Given the description of an element on the screen output the (x, y) to click on. 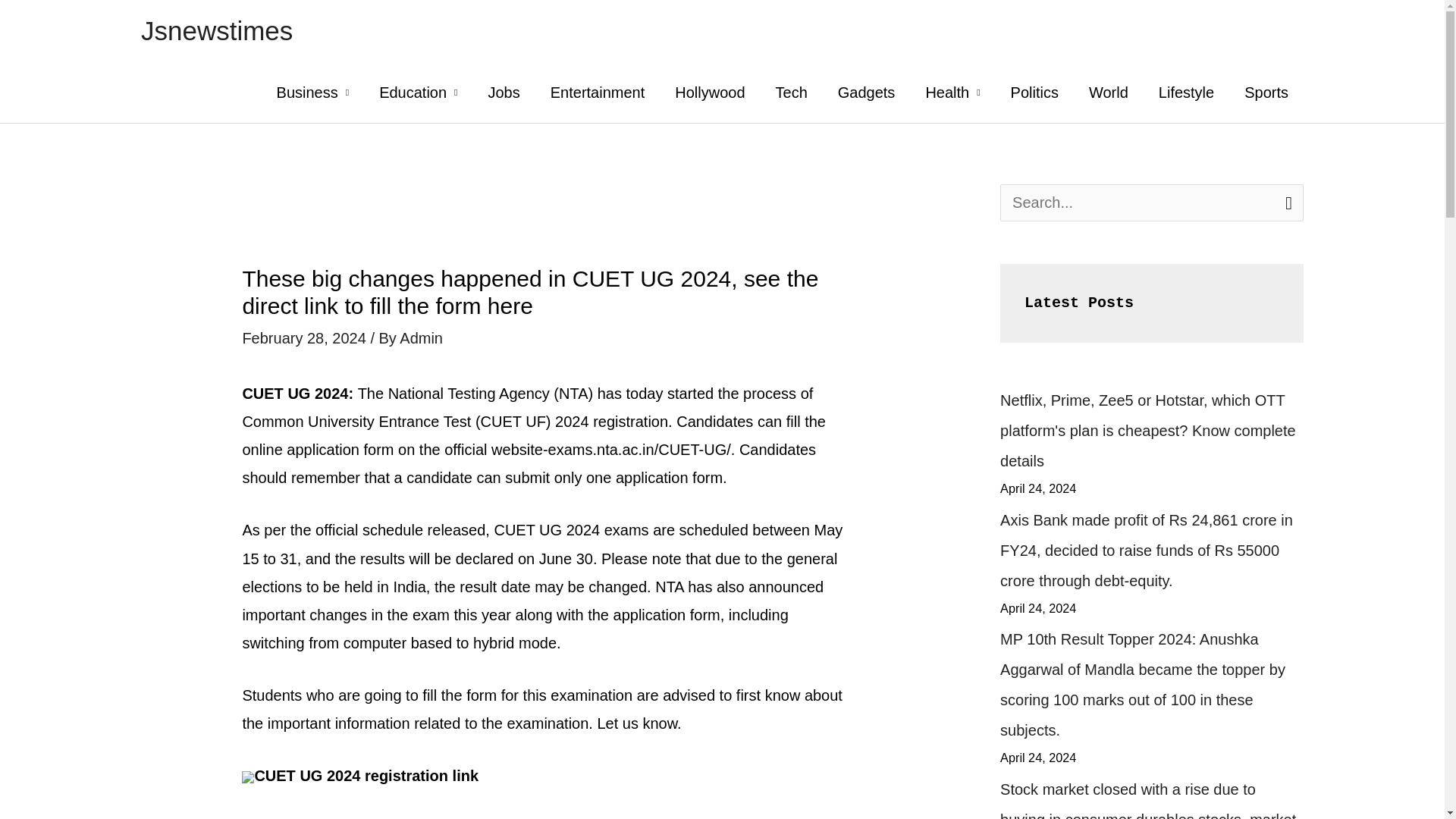
Tech (791, 92)
Education (417, 92)
View all posts by Admin (420, 338)
Search (1286, 201)
Jsnewstimes (216, 30)
Lifestyle (1185, 92)
Business (313, 92)
Search (1286, 201)
Jobs (502, 92)
Health (952, 92)
Sports (1265, 92)
Admin (420, 338)
World (1108, 92)
